Given the description of an element on the screen output the (x, y) to click on. 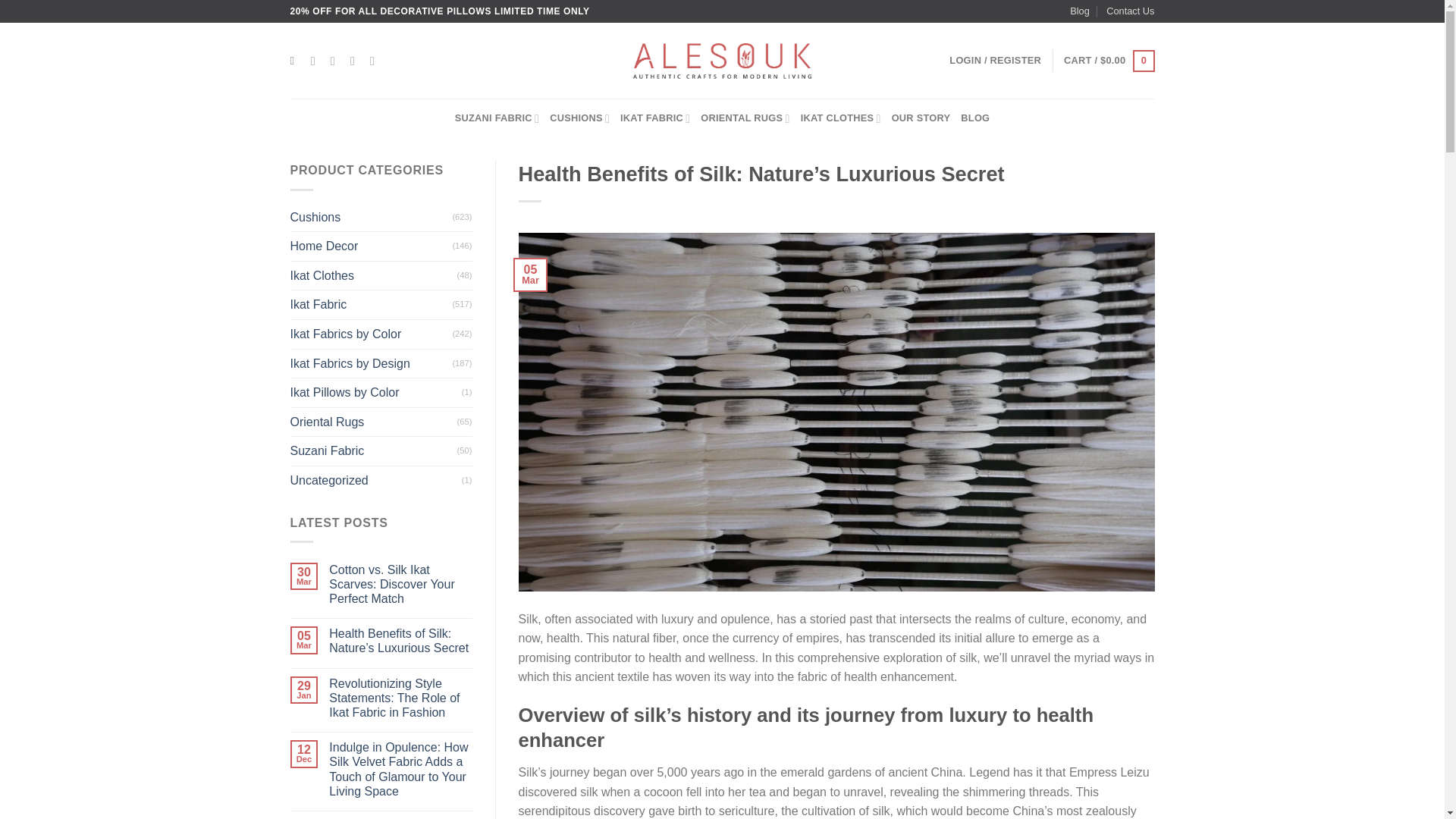
Contact Us (1130, 11)
IKAT FABRIC (655, 118)
Follow on Instagram (336, 60)
Cart (1109, 61)
SUZANI FABRIC (496, 118)
ORIENTAL RUGS (744, 118)
Cotton vs. Silk Ikat Scarves: Discover Your Perfect Match (400, 584)
CUSHIONS (580, 118)
